Given the description of an element on the screen output the (x, y) to click on. 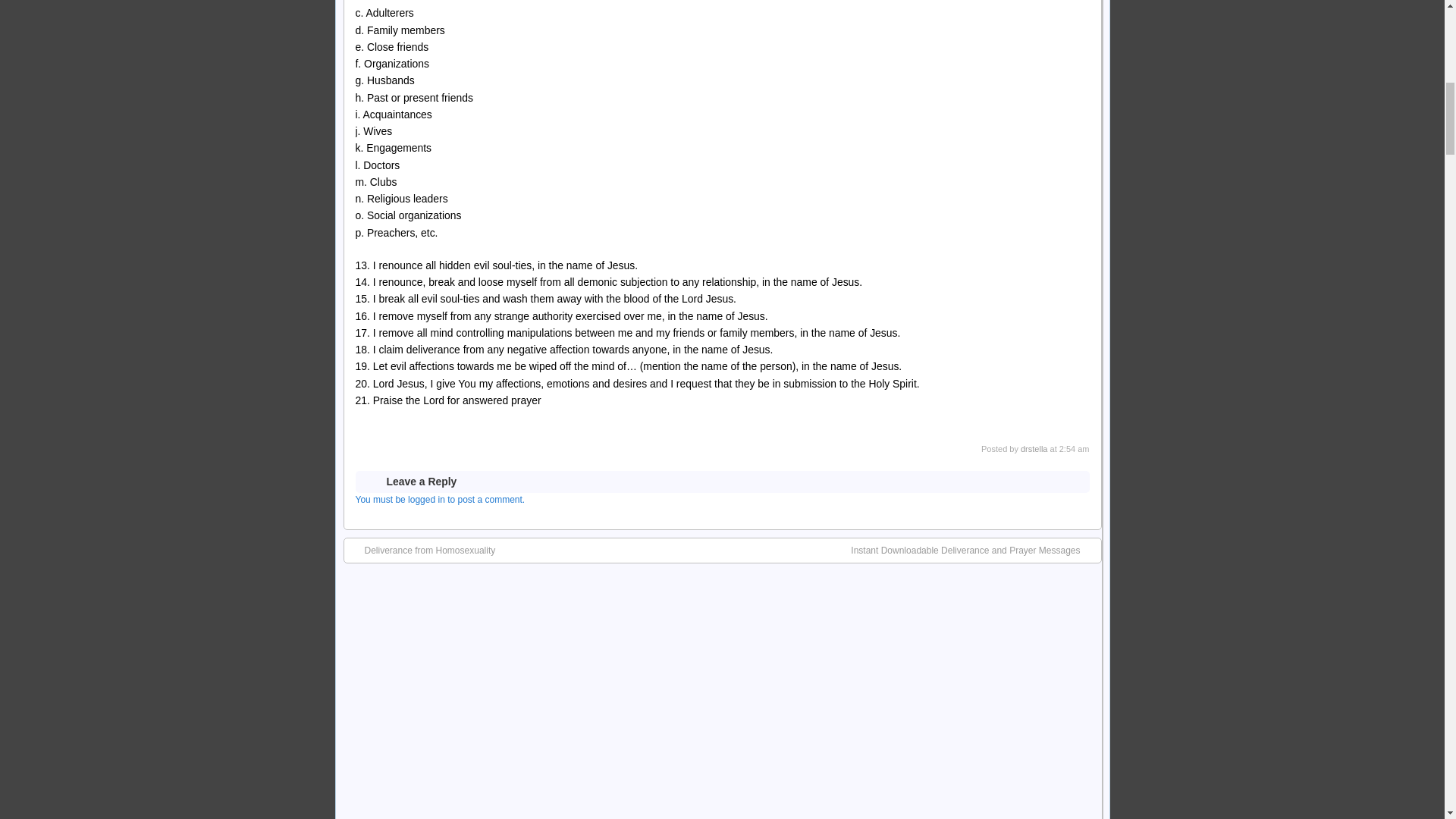
You must be logged in to post a comment. (439, 499)
drstella (1033, 448)
  Deliverance from Homosexuality (422, 550)
  Instant Downloadable Deliverance and Prayer Messages (972, 550)
